Given the description of an element on the screen output the (x, y) to click on. 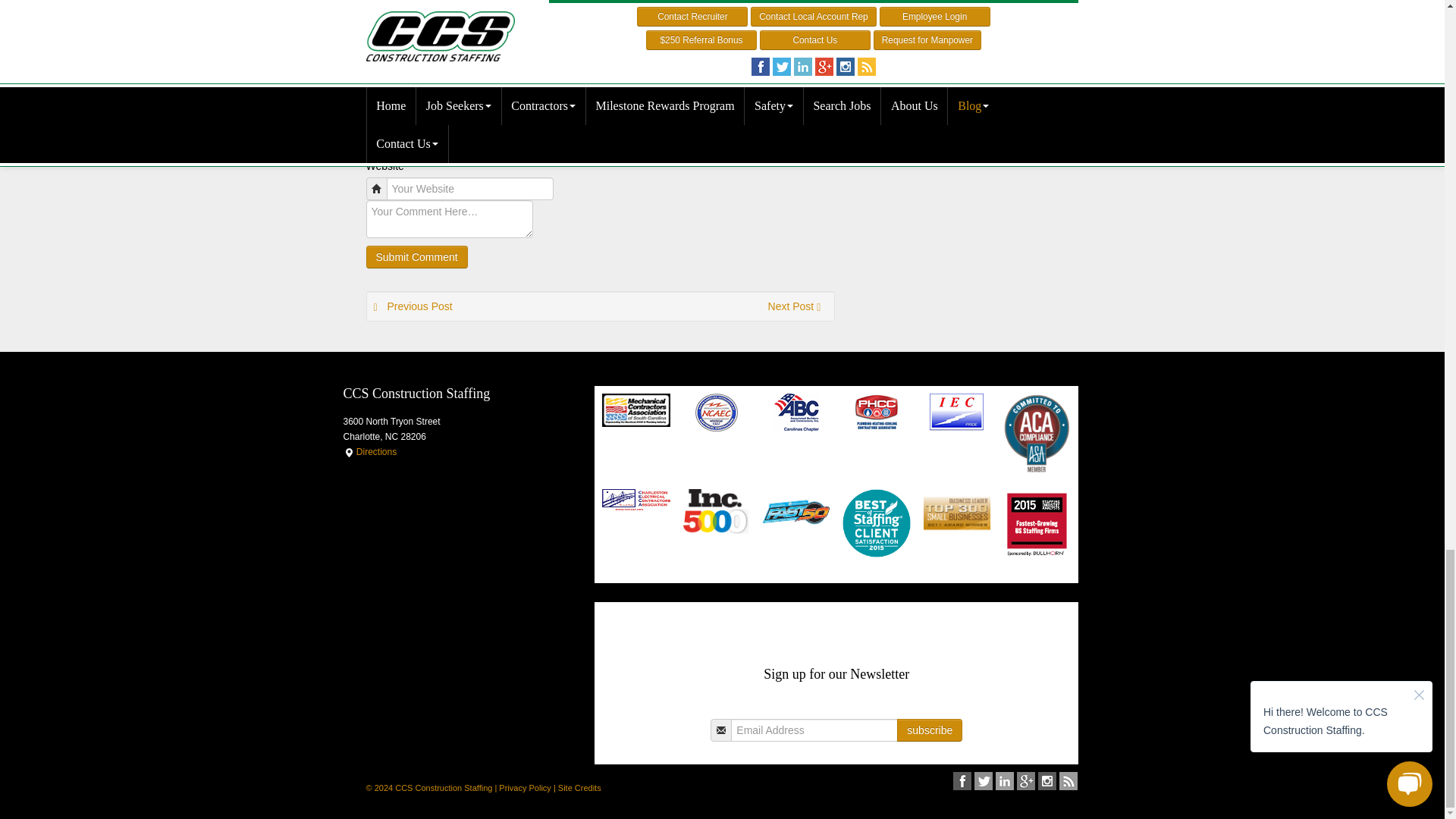
Submit Comment (416, 256)
subscribe (929, 730)
